Given the description of an element on the screen output the (x, y) to click on. 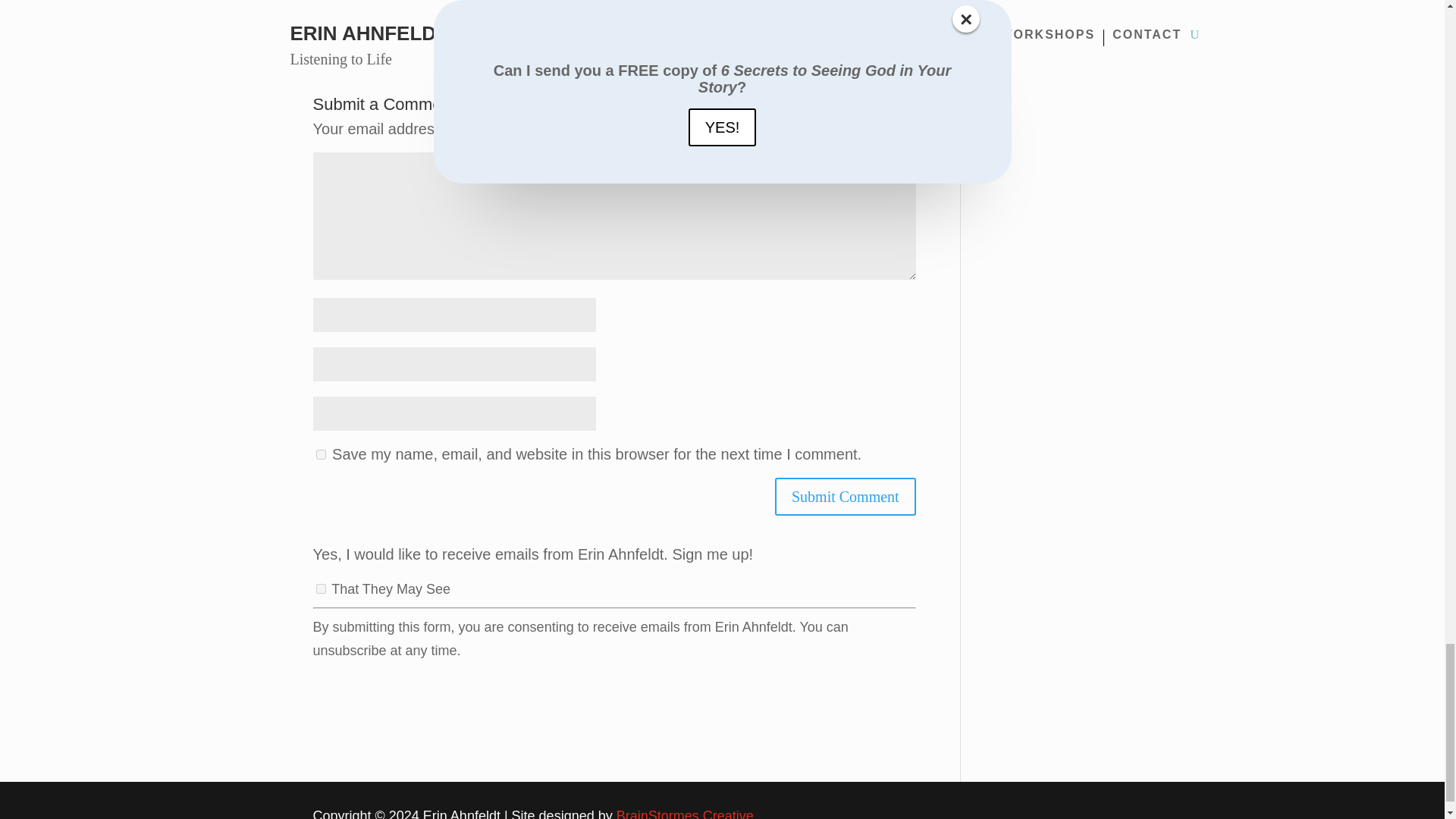
BrainStormes Creative (684, 813)
Submit Comment (844, 496)
Submit Comment (844, 496)
1057116798 (319, 588)
yes (319, 454)
